Given the description of an element on the screen output the (x, y) to click on. 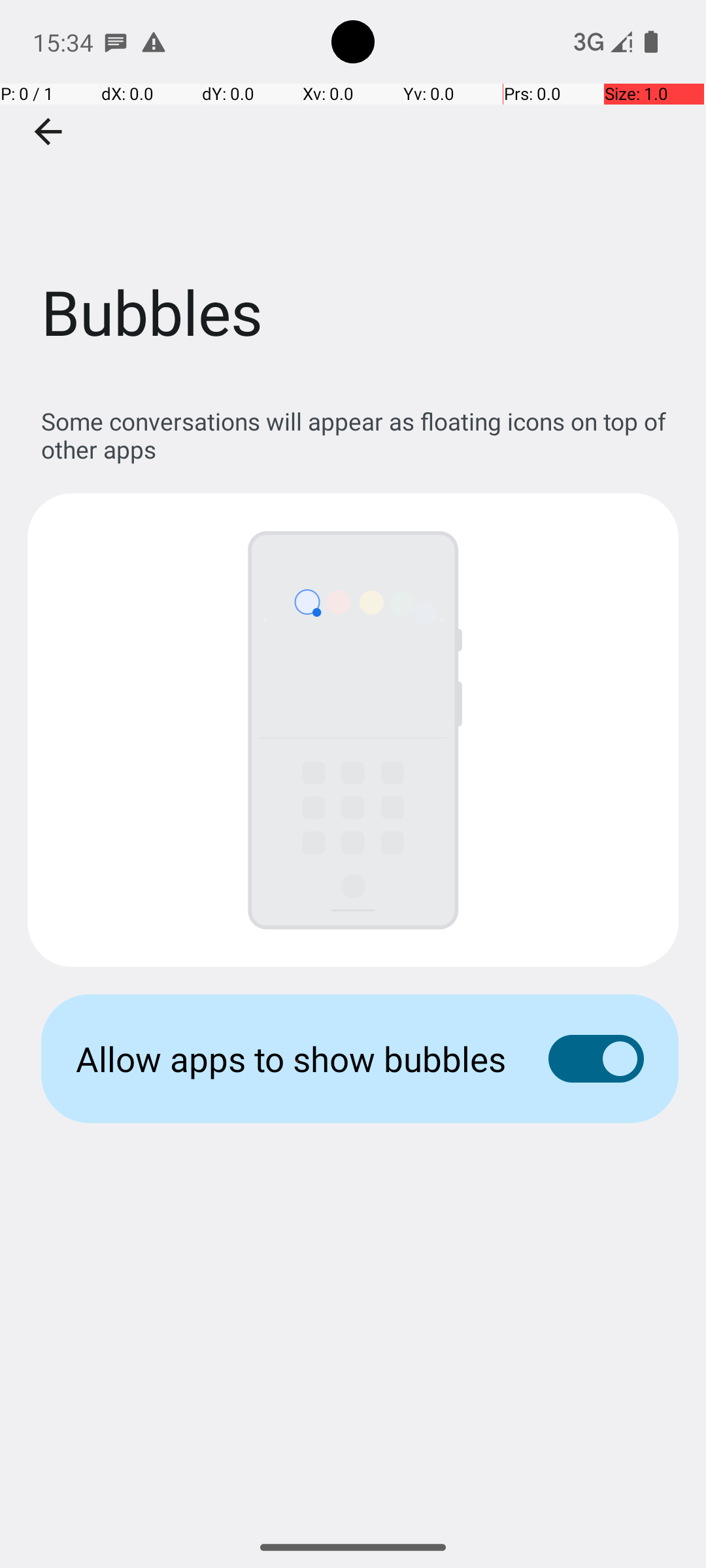
Some conversations will appear as floating icons on top of other apps Element type: android.widget.TextView (359, 434)
Allow apps to show bubbles Element type: android.widget.TextView (291, 1058)
